Given the description of an element on the screen output the (x, y) to click on. 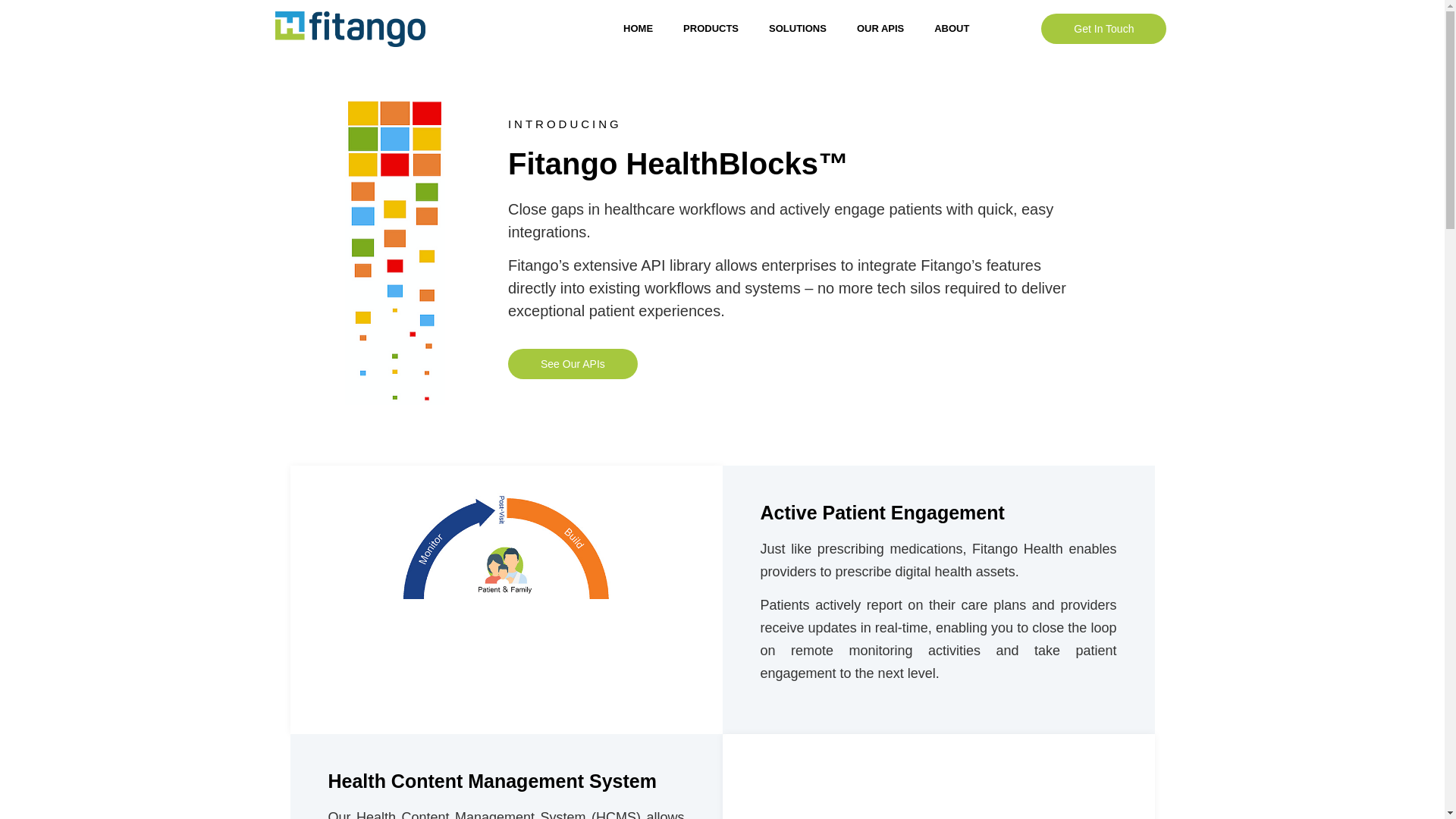
ABOUT (951, 28)
HOME (638, 28)
PRODUCTS (711, 28)
See Our APIs (572, 363)
OUR APIS (879, 28)
SOLUTIONS (797, 28)
Get In Touch (1103, 28)
